Given the description of an element on the screen output the (x, y) to click on. 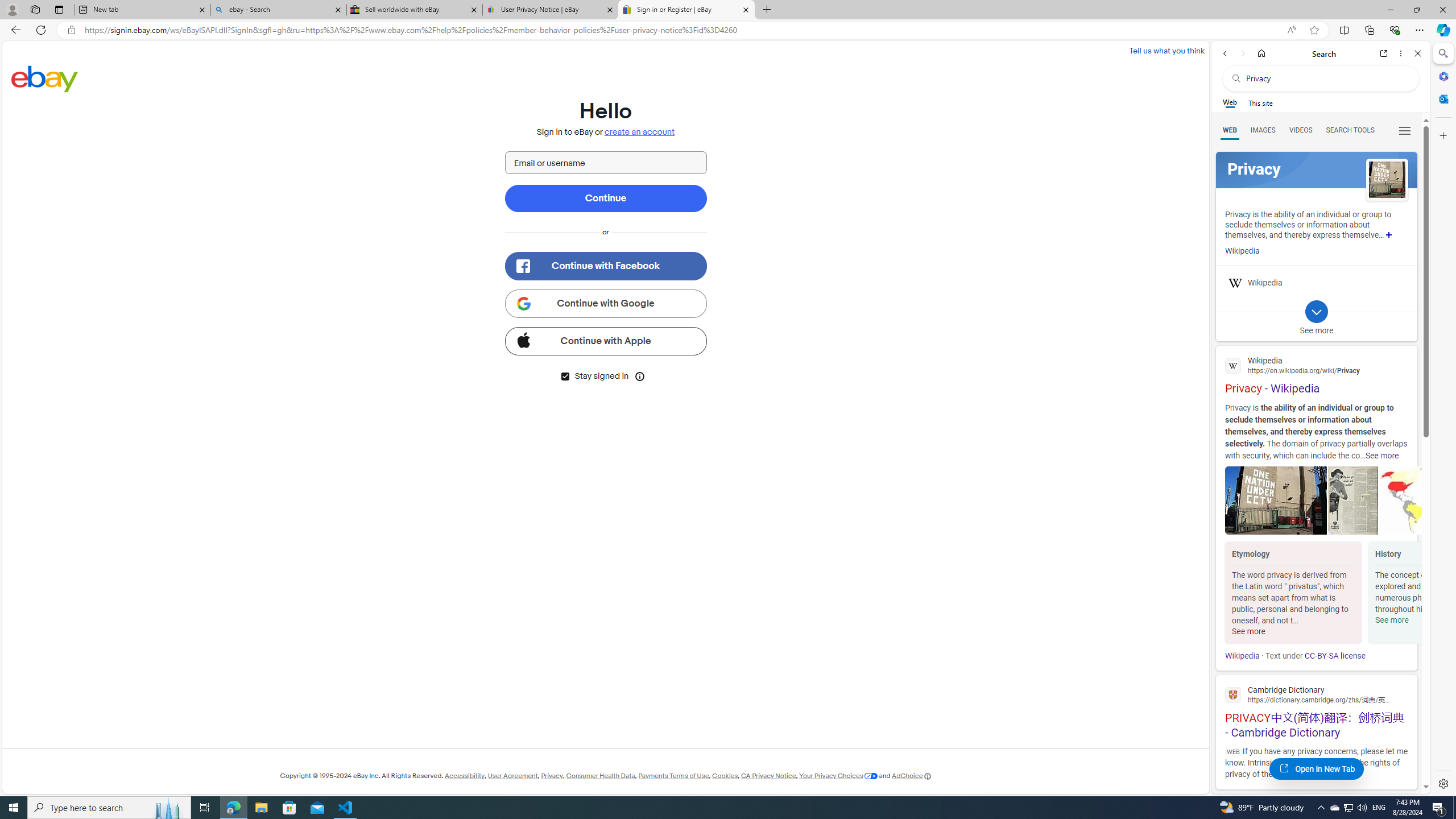
See more images of Privacy (1386, 180)
eBay Home (44, 78)
Continue with Facebook (605, 266)
Continue (605, 198)
Continue with Google (605, 303)
Class: fb-icon (522, 265)
Web scope (1230, 102)
Sign in or Register | eBay (685, 9)
Cambridge Dictionary (1315, 693)
